Given the description of an element on the screen output the (x, y) to click on. 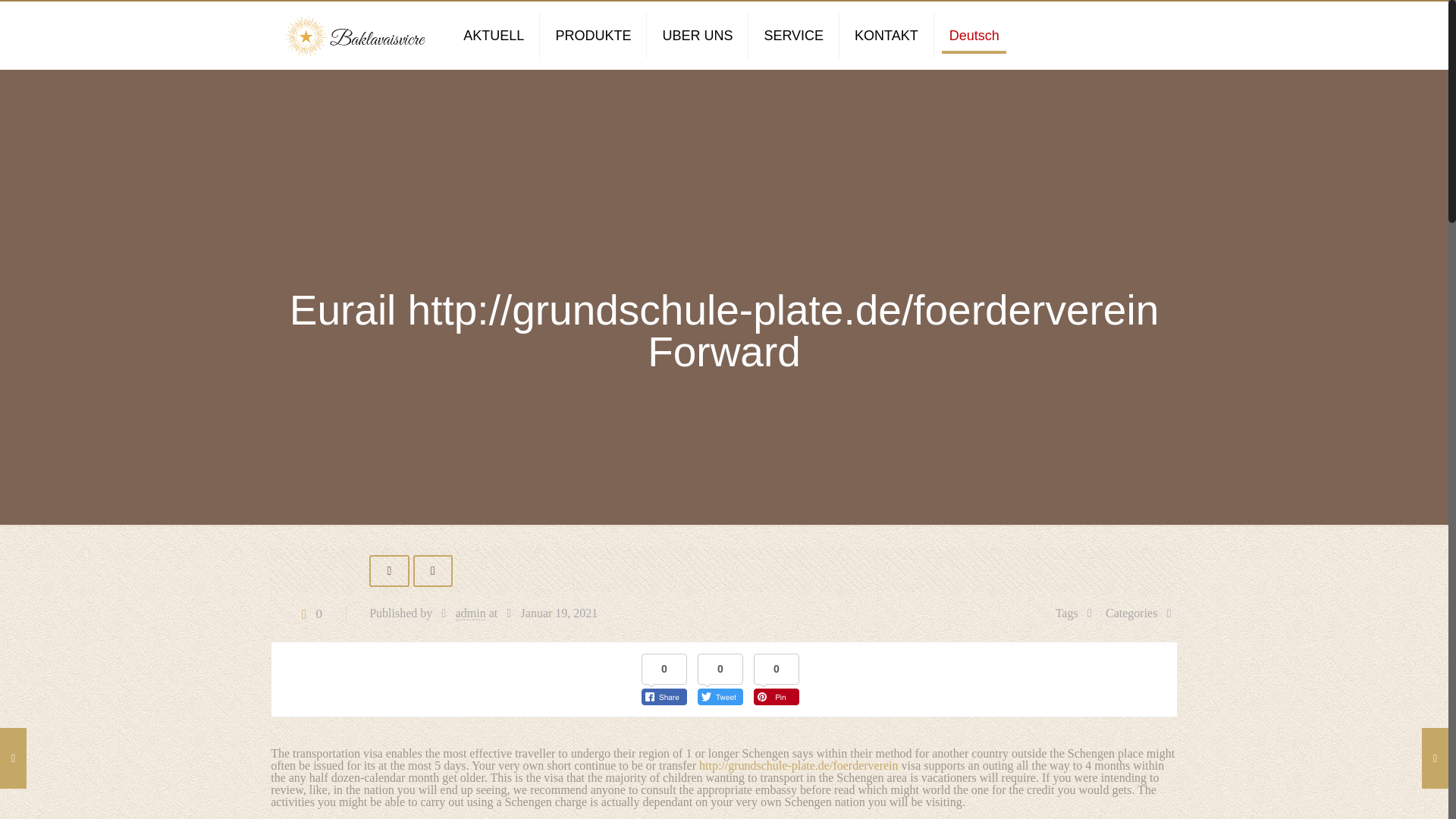
SERVICE (794, 35)
PRODUKTE (593, 35)
UBER UNS (697, 35)
Deutsch (974, 35)
KONTAKT (887, 35)
admin (470, 612)
AKTUELL (494, 35)
0 (307, 613)
